Given the description of an element on the screen output the (x, y) to click on. 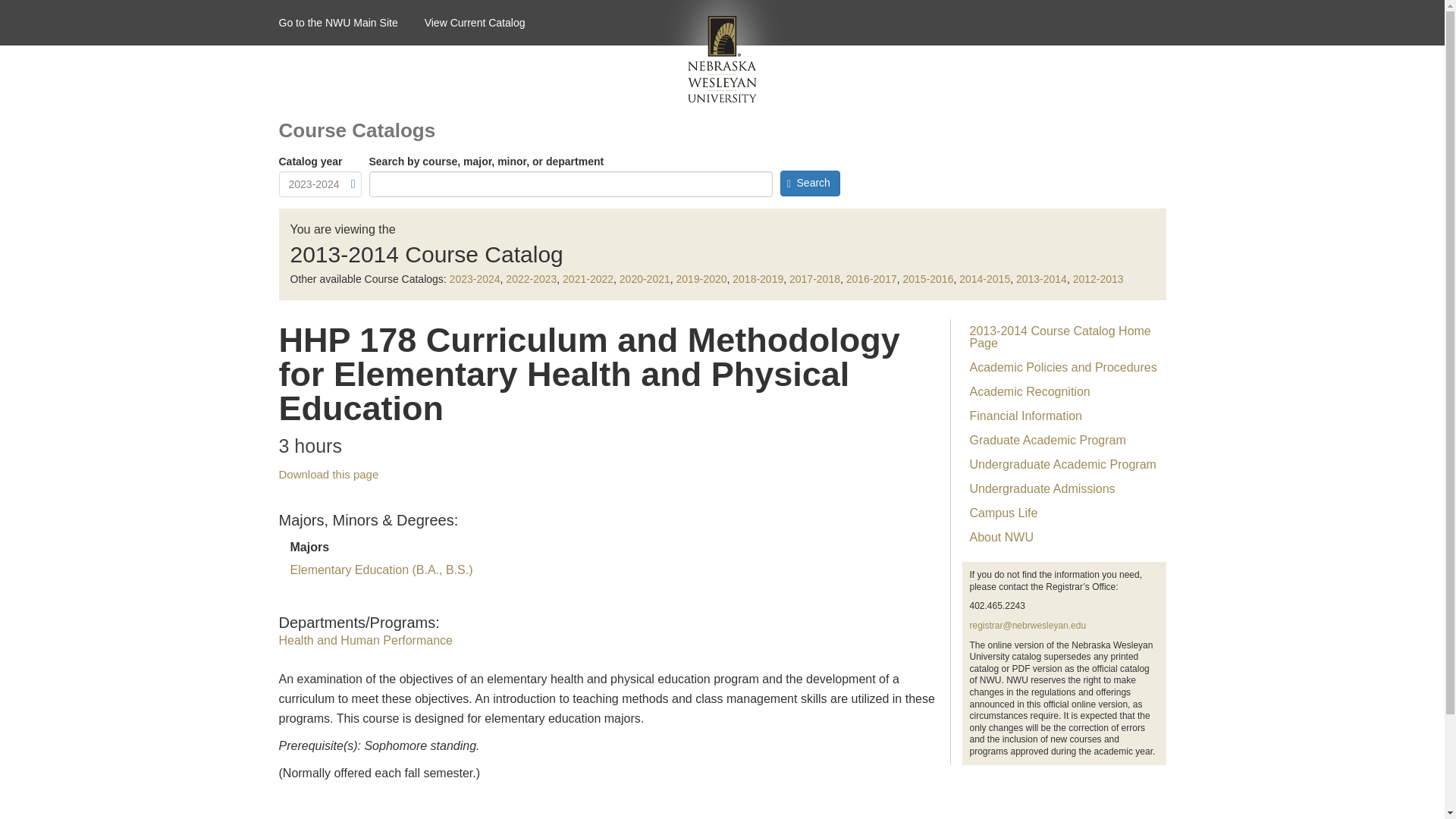
Undergraduate Admissions (1063, 488)
Academic Policies and Procedures (1063, 367)
2014-2015 (984, 278)
Download this page (328, 473)
2015-2016 (927, 278)
2018-2019 (757, 278)
Financial Information (1063, 416)
2020-2021 (644, 278)
2012-2013 (1098, 278)
Undergraduate Academic Program (1063, 464)
2017-2018 (814, 278)
Academic Recognition (1063, 392)
Graduate Academic Program (1063, 440)
Health and Human Performance (365, 640)
2021-2022 (587, 278)
